Given the description of an element on the screen output the (x, y) to click on. 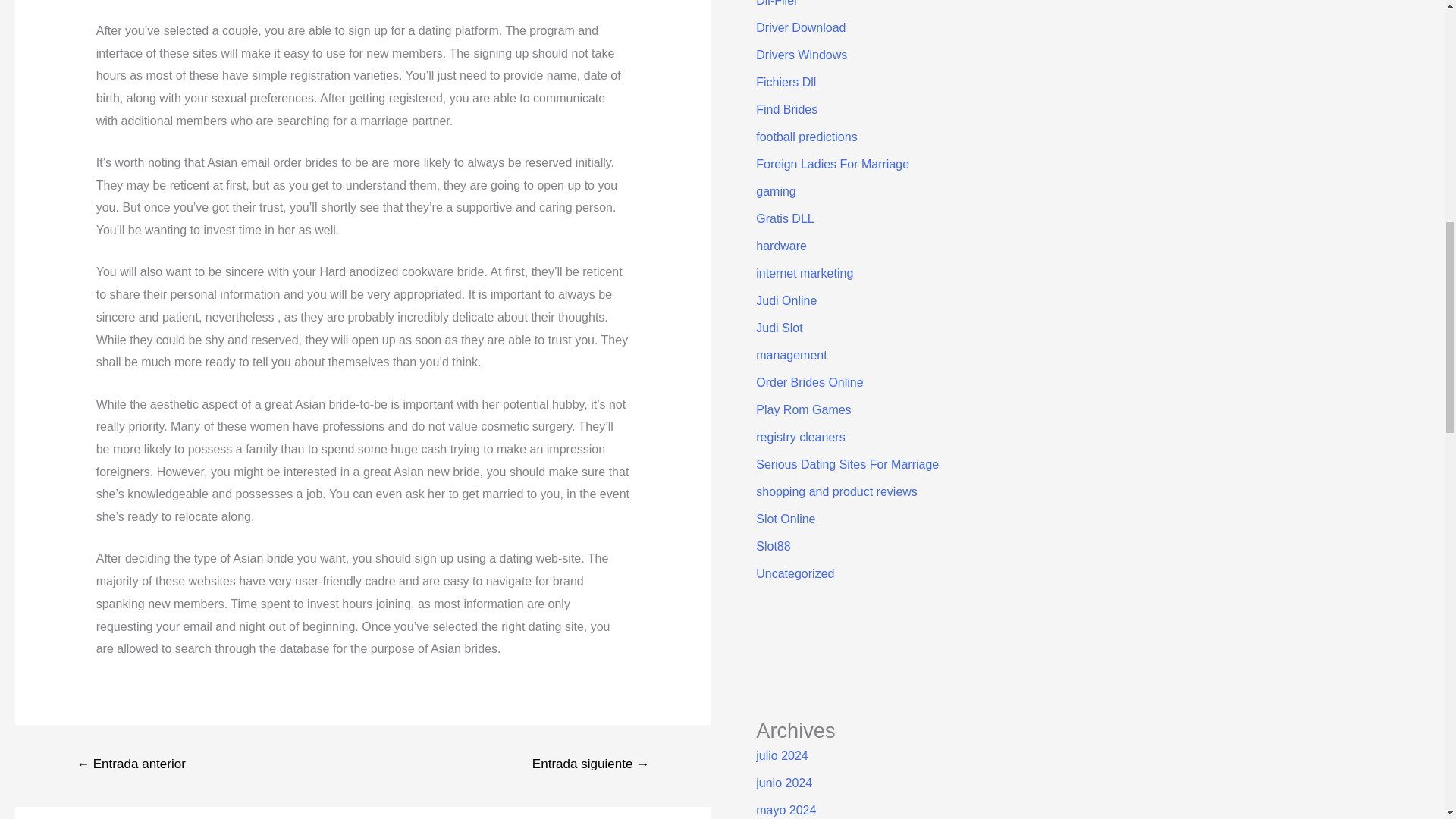
Slot Online (785, 518)
internet marketing (804, 273)
Slot88 (772, 545)
registry cleaners (799, 436)
Judi Slot (778, 327)
hardware (780, 245)
gaming (774, 191)
shopping and product reviews (836, 491)
Judi Online (785, 300)
management (791, 354)
